Given the description of an element on the screen output the (x, y) to click on. 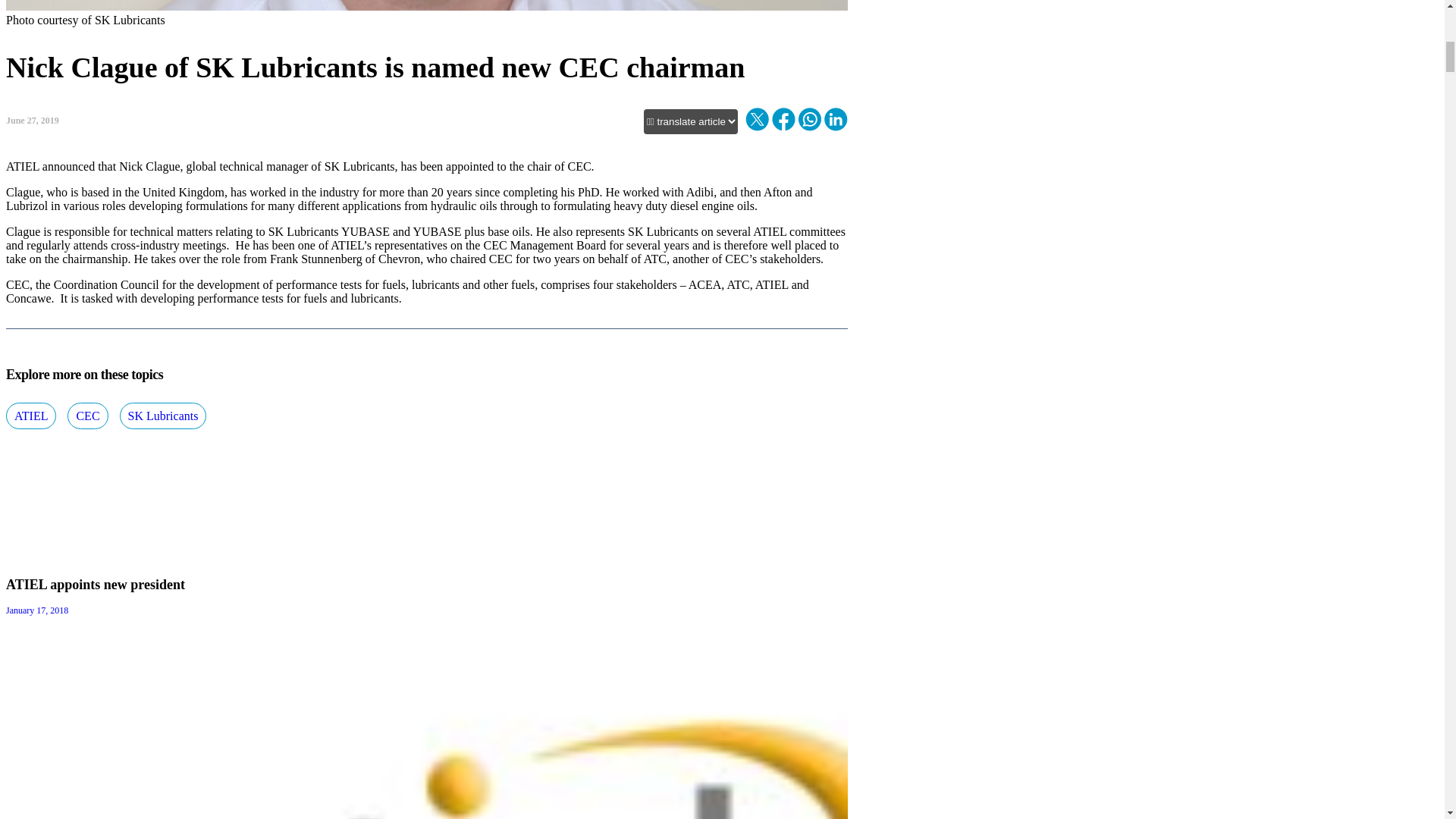
CEC (86, 415)
ATIEL (30, 415)
January 17, 2018 (36, 610)
ATIEL appoints new president (94, 584)
June 27, 2019 (32, 120)
SK Lubricants (162, 415)
